Given the description of an element on the screen output the (x, y) to click on. 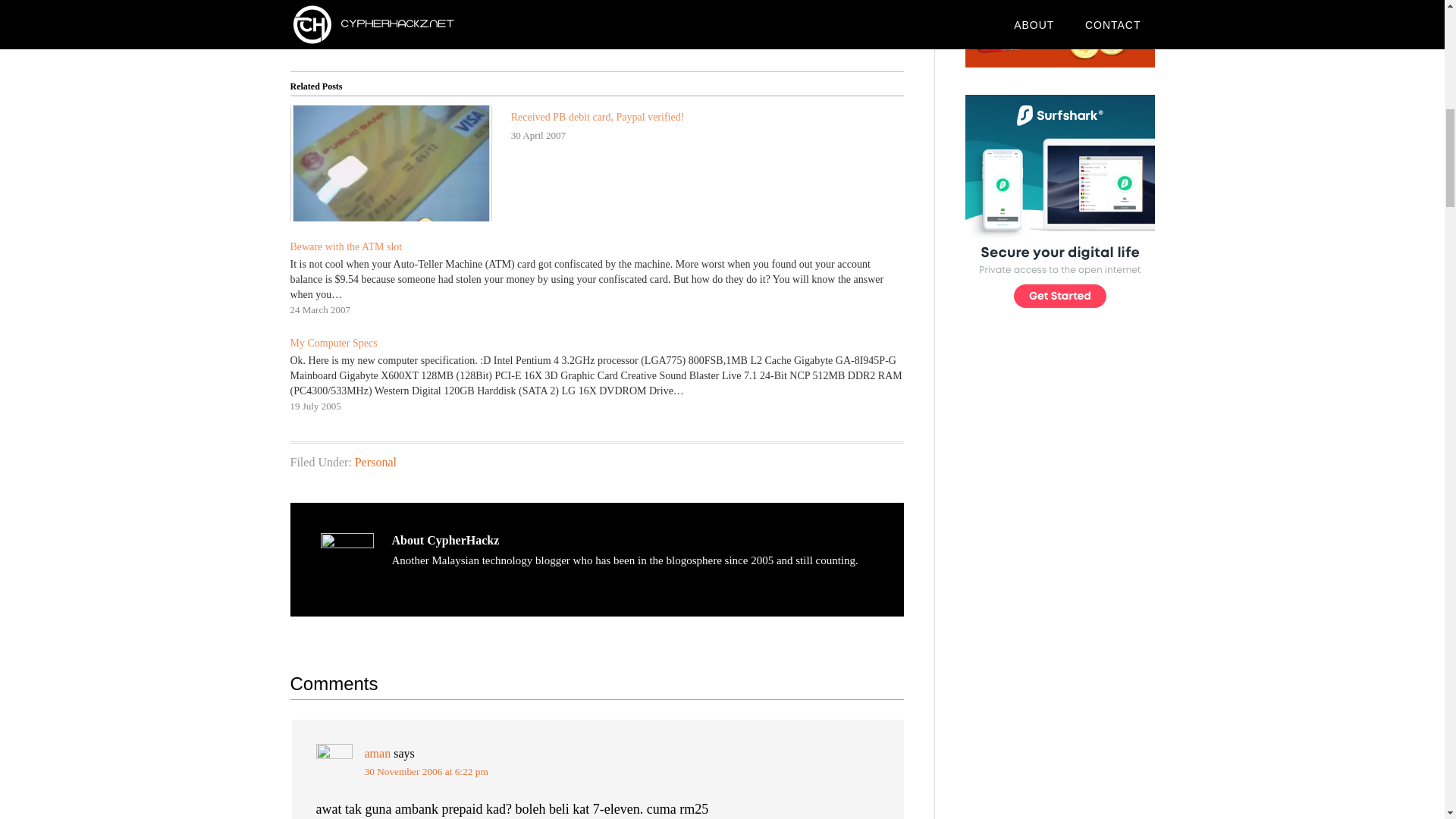
Beware with the ATM slot (603, 276)
My Computer Specs (333, 342)
30 November 2006 at 6:22 pm (425, 771)
Share (378, 22)
Beware with the ATM slot (345, 246)
Beware with the ATM slot (345, 246)
Share (317, 22)
Received PB debit card, Paypal verified! (597, 116)
My Computer Specs (603, 372)
My Computer Specs (333, 342)
Public Gold Malaysia (1058, 33)
Personal (375, 461)
aman (377, 753)
Received PB debit card, Paypal verified! (597, 116)
